Given the description of an element on the screen output the (x, y) to click on. 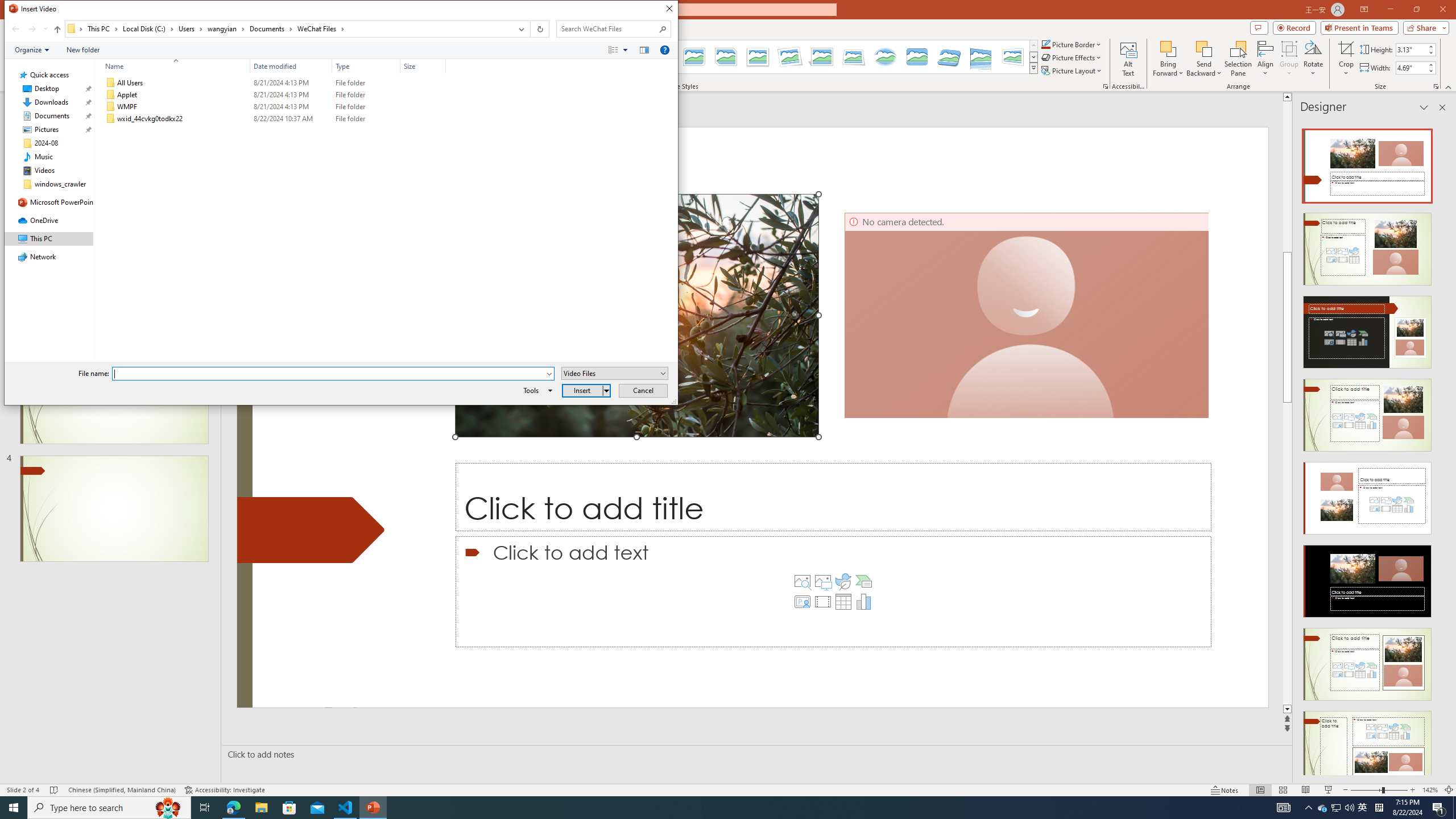
Shape Width (1410, 67)
Size (422, 65)
Picture Border (1071, 44)
Navigation buttons (28, 28)
Search Box (607, 28)
Group (1288, 58)
Recommended Design: Design Idea (1366, 162)
